Given the description of an element on the screen output the (x, y) to click on. 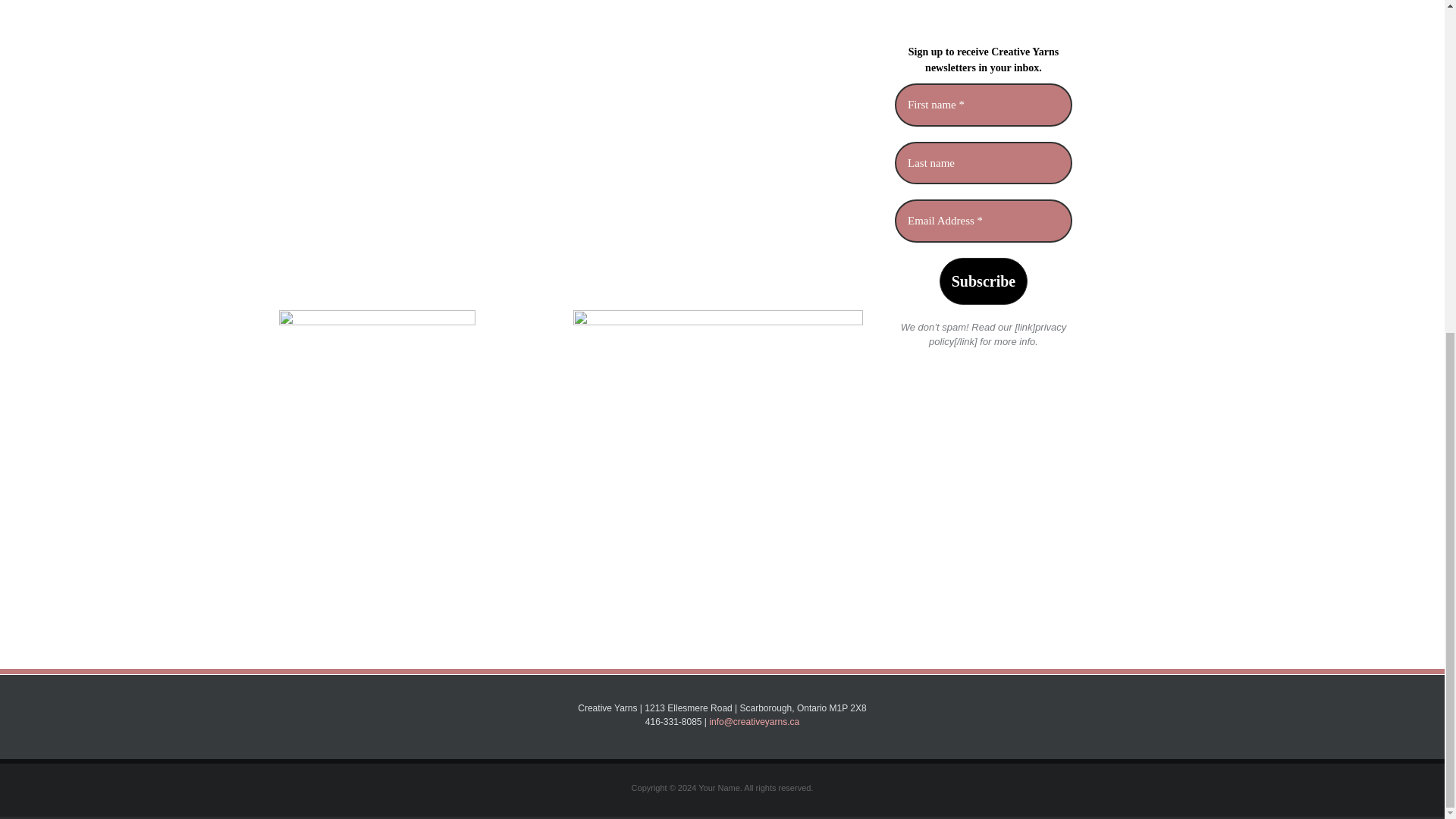
Last name (983, 163)
First name (983, 104)
Email Address (983, 220)
Subscribe (983, 280)
Subscribe (983, 280)
